Given the description of an element on the screen output the (x, y) to click on. 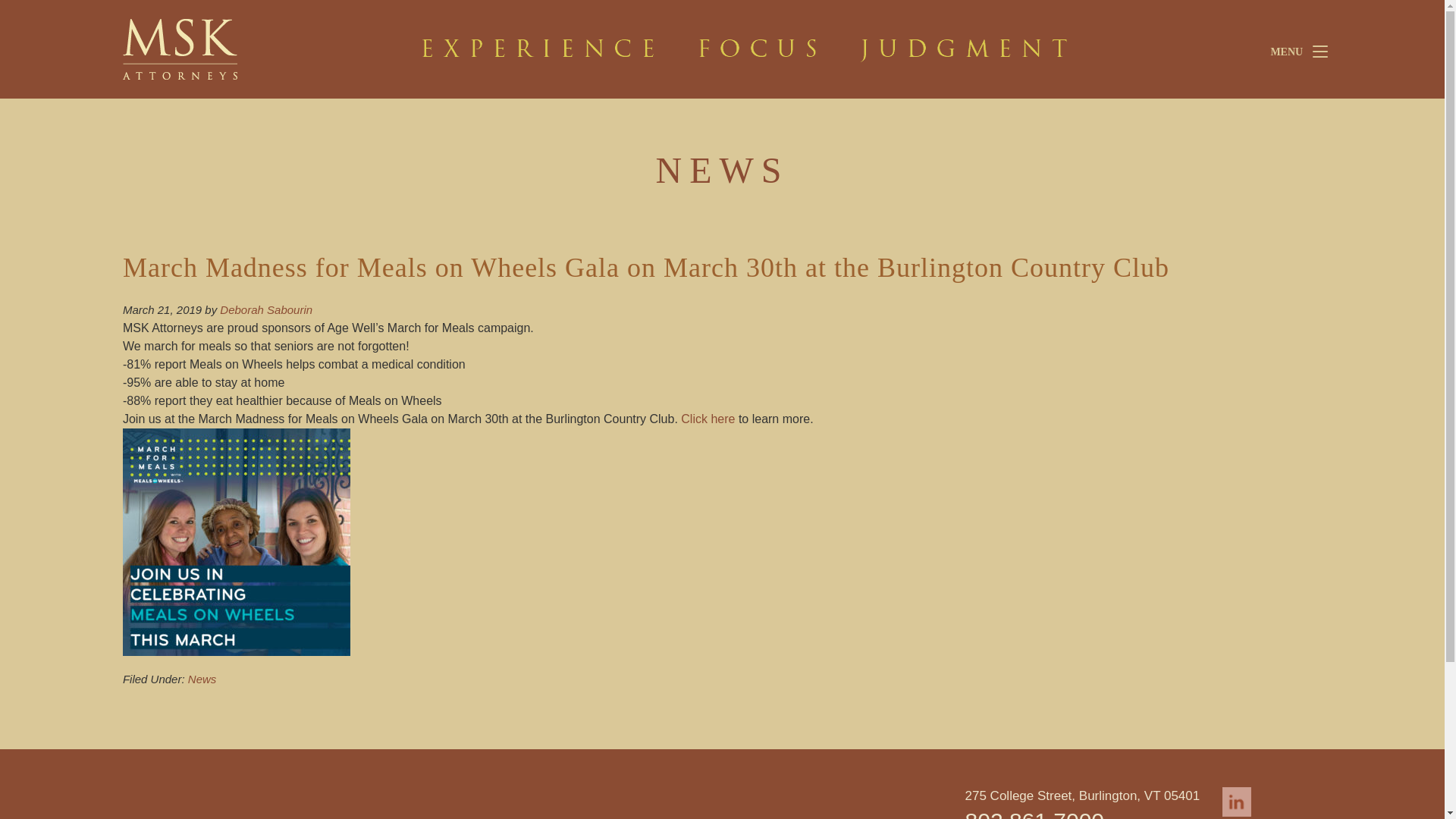
News (201, 678)
MENU (1295, 50)
Click here (708, 418)
Deborah Sabourin (266, 309)
MSK ATTORNEYS (236, 48)
802.861.7000 (1035, 813)
